Given the description of an element on the screen output the (x, y) to click on. 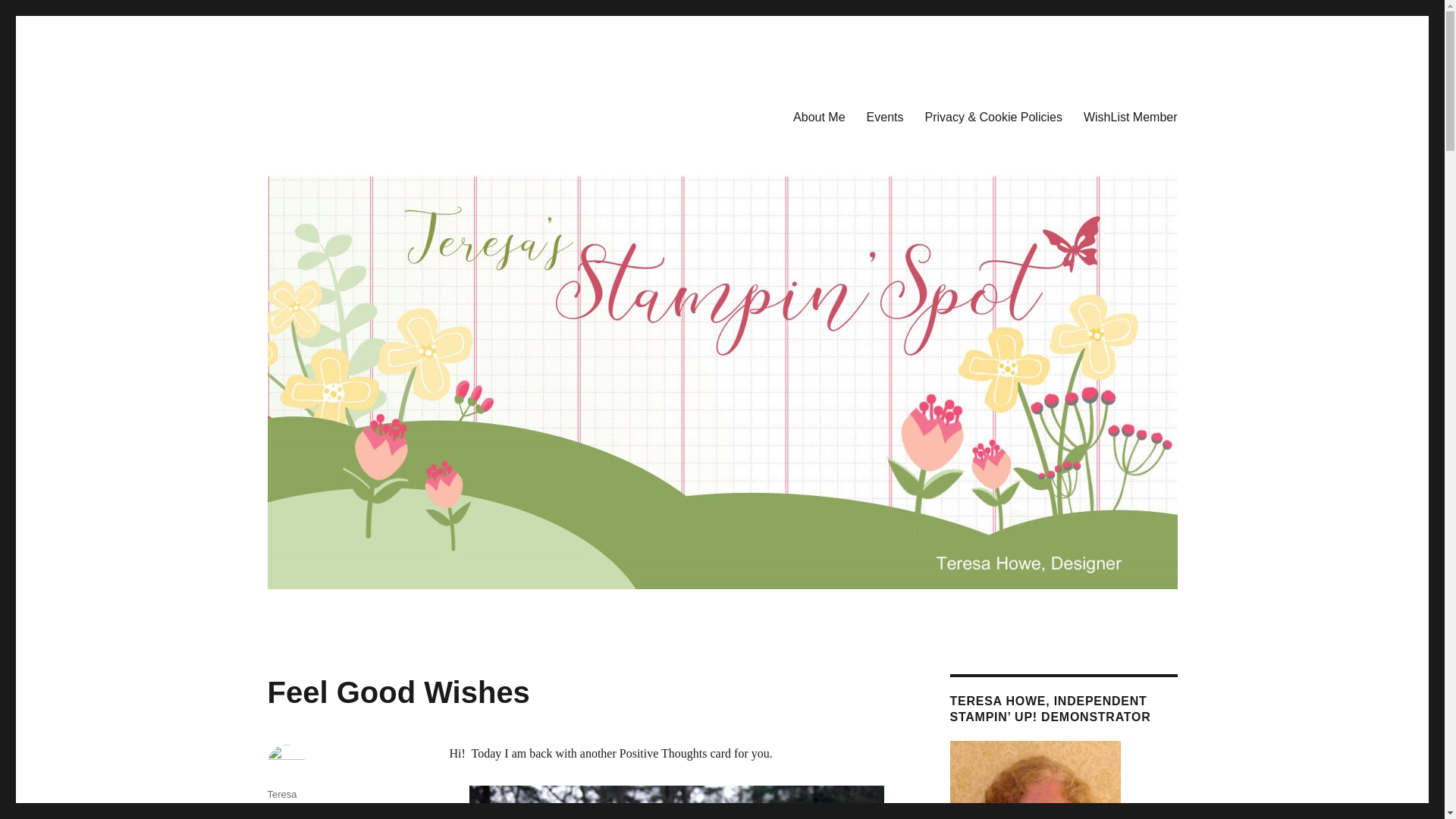
About Me (819, 116)
WishList Member (1130, 116)
Events (885, 116)
Teresa's Stampin' Spot (381, 114)
